Given the description of an element on the screen output the (x, y) to click on. 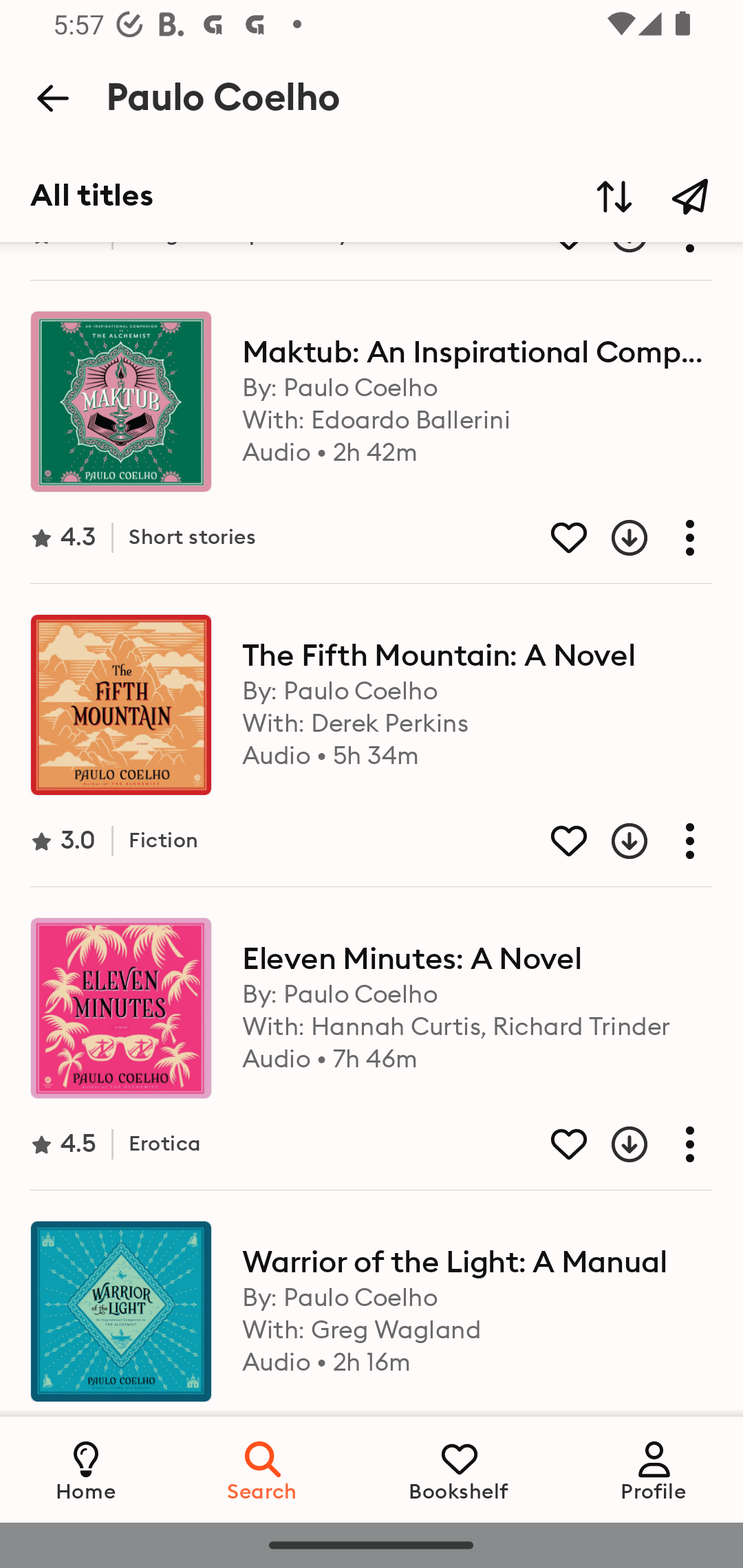
Back (52, 98)
Download (613, 537)
Download (613, 839)
Download (613, 1144)
Home (85, 1468)
Search (262, 1468)
Bookshelf (458, 1468)
Profile (653, 1468)
